Given the description of an element on the screen output the (x, y) to click on. 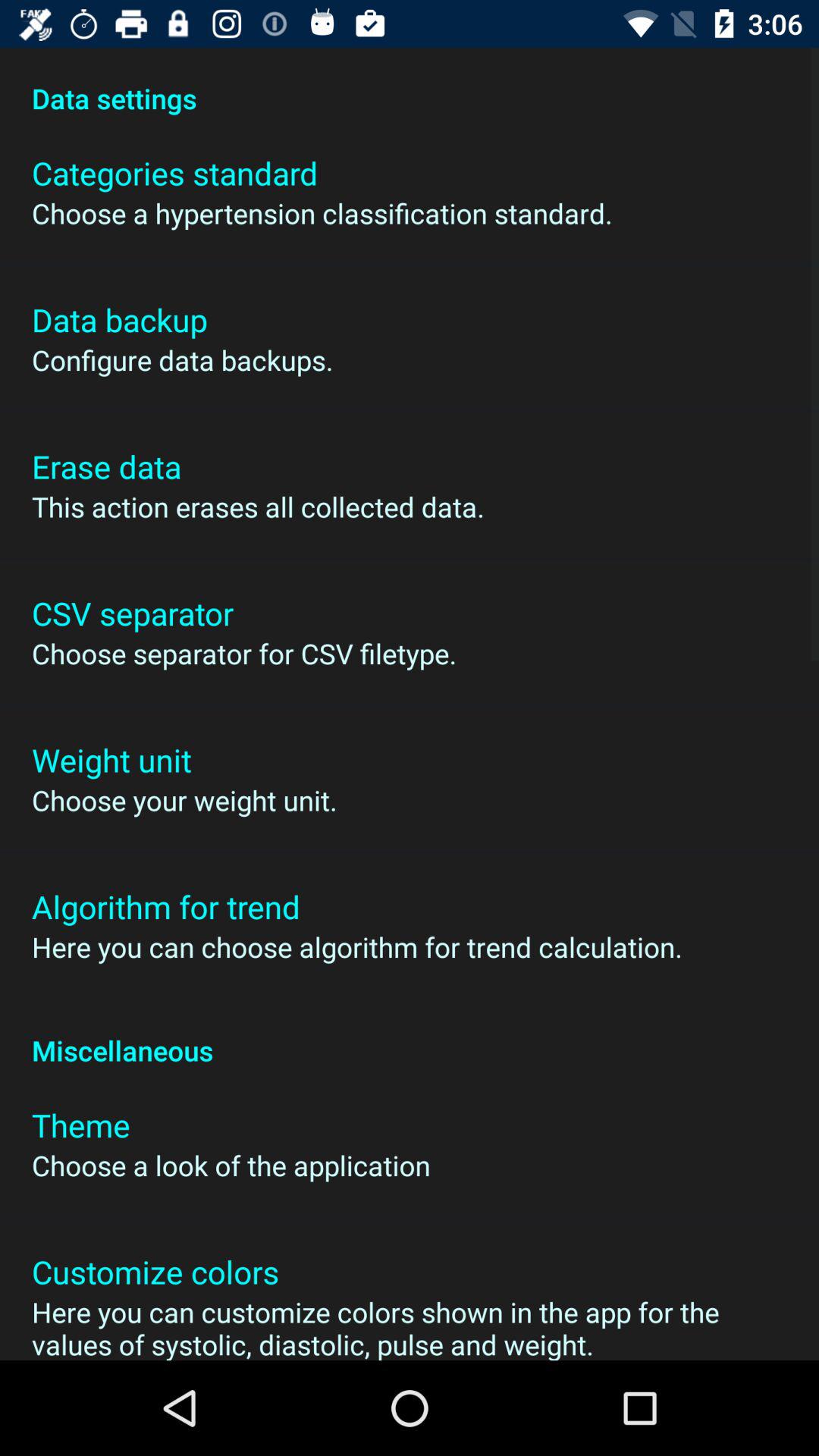
turn off icon below the choose a hypertension item (119, 319)
